Given the description of an element on the screen output the (x, y) to click on. 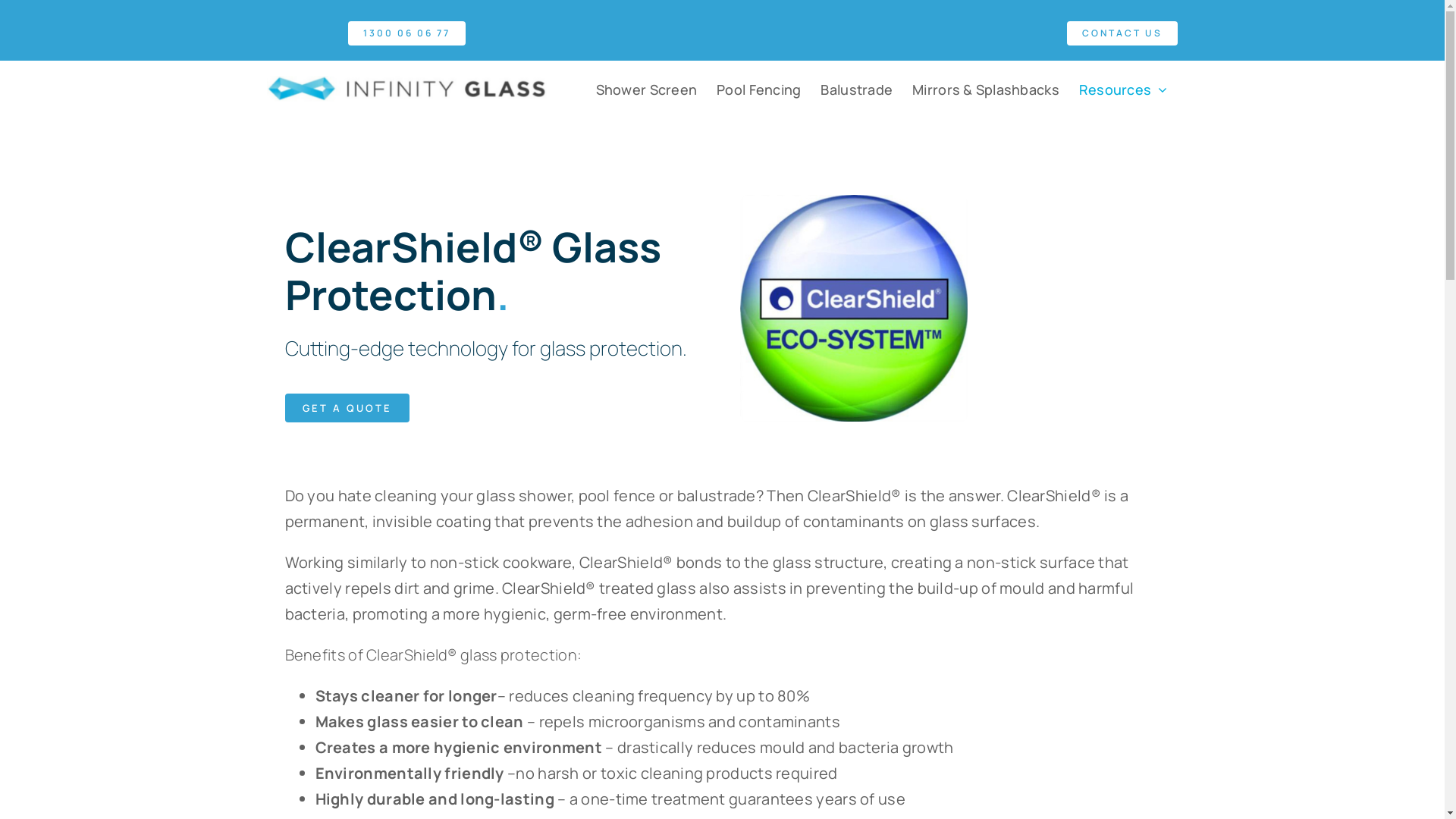
Mirrors & Splashbacks Element type: text (985, 88)
Clear Shield logo Element type: hover (853, 308)
1300 06 06 77 Element type: text (406, 33)
CONTACT US Element type: text (1121, 33)
Resources Element type: text (1123, 88)
Balustrade Element type: text (856, 88)
GET A QUOTE Element type: text (347, 407)
Shower Screen Element type: text (646, 88)
Pool Fencing Element type: text (758, 88)
